Given the description of an element on the screen output the (x, y) to click on. 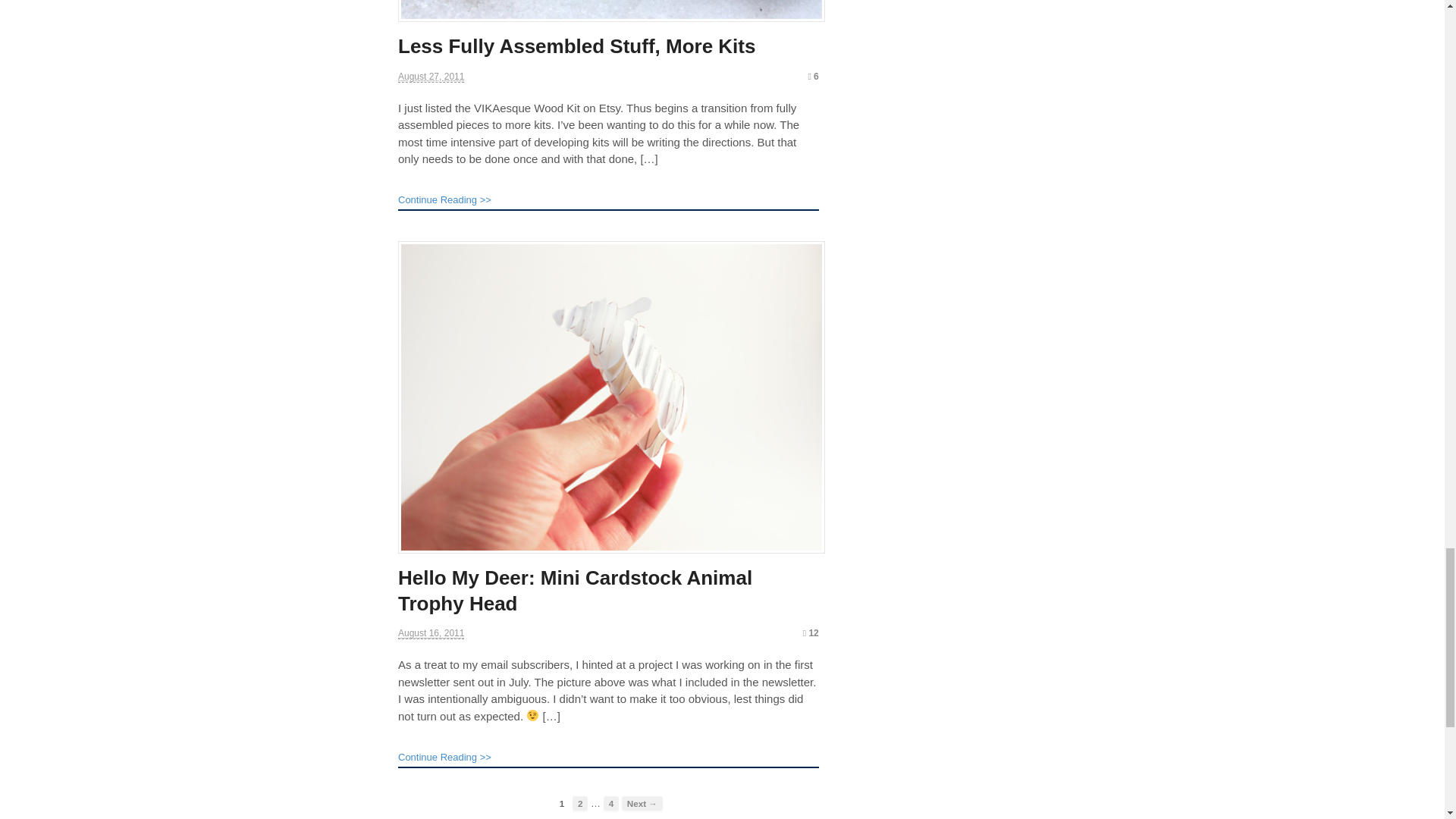
2 (580, 803)
Hello My Deer: Mini Cardstock Animal Trophy Head (574, 590)
4 (612, 803)
12 (810, 633)
Less Fully Assembled Stuff, More Kits (576, 46)
6 (813, 76)
